Given the description of an element on the screen output the (x, y) to click on. 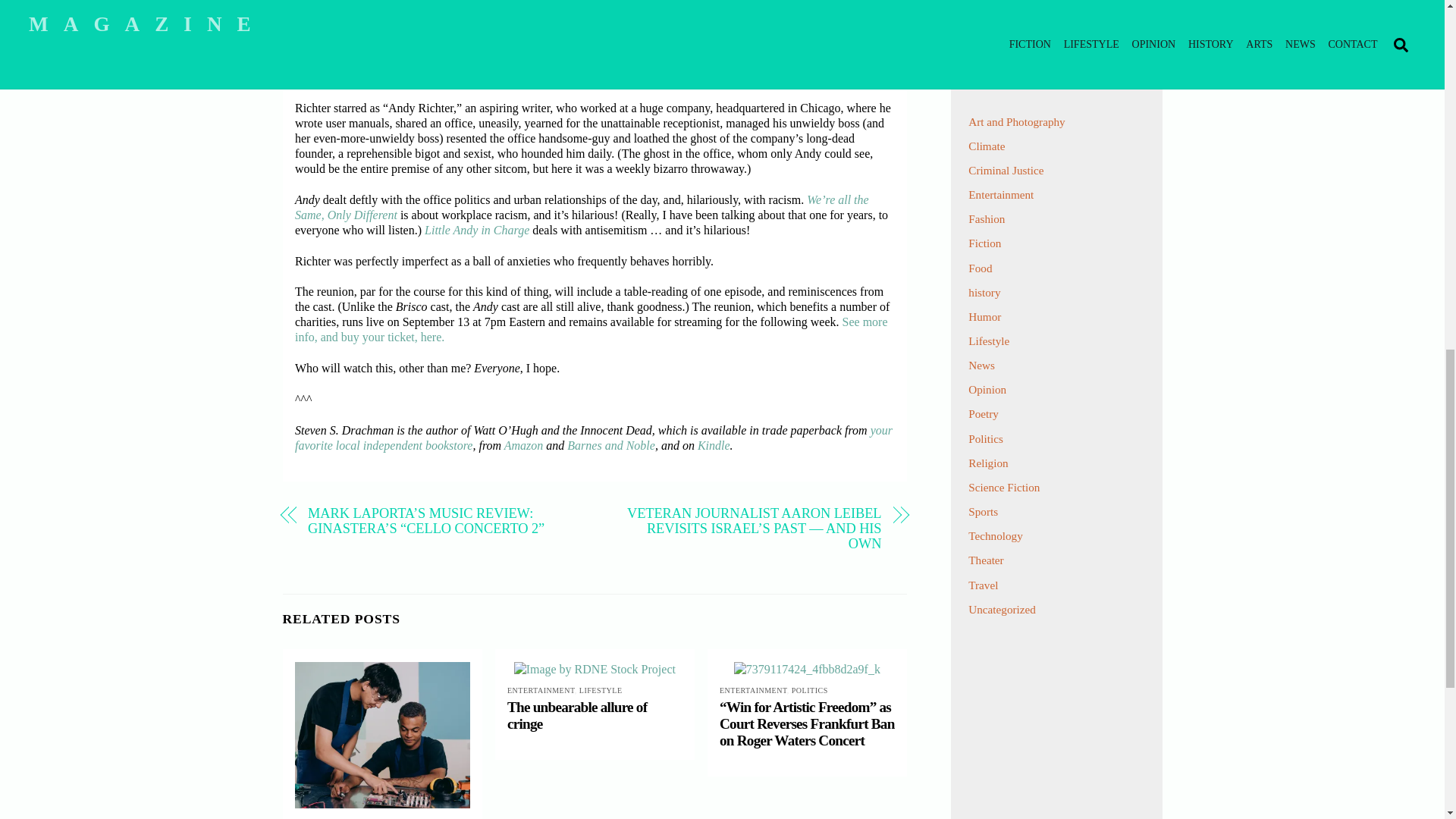
ENTERTAINMENT (328, 818)
ENTERTAINMENT (540, 690)
The unbearable allure of cringe (576, 715)
Barnes and Noble (611, 445)
Image by Mikhail Nilov (382, 734)
Image by RDNE Stock Project (594, 669)
LIFESTYLE (388, 818)
See more info, and buy your ticket, here. (591, 329)
your favorite local independent bookstore (593, 438)
Highcliffe Manor (359, 3)
